Given the description of an element on the screen output the (x, y) to click on. 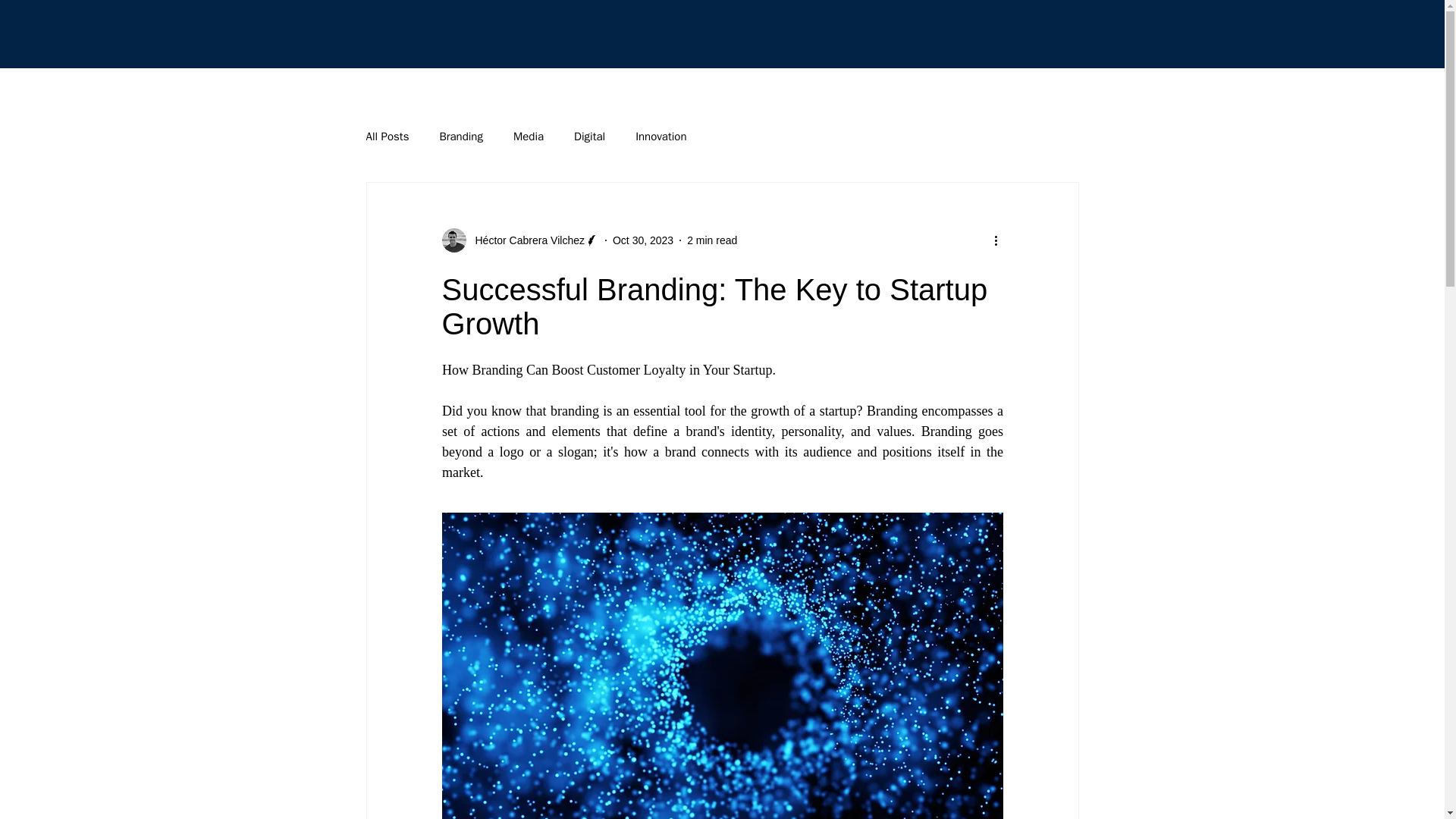
Oct 30, 2023 (642, 239)
Branding (461, 135)
2 min read (711, 239)
Digital (589, 135)
Innovation (659, 135)
Media (528, 135)
All Posts (387, 135)
